Given the description of an element on the screen output the (x, y) to click on. 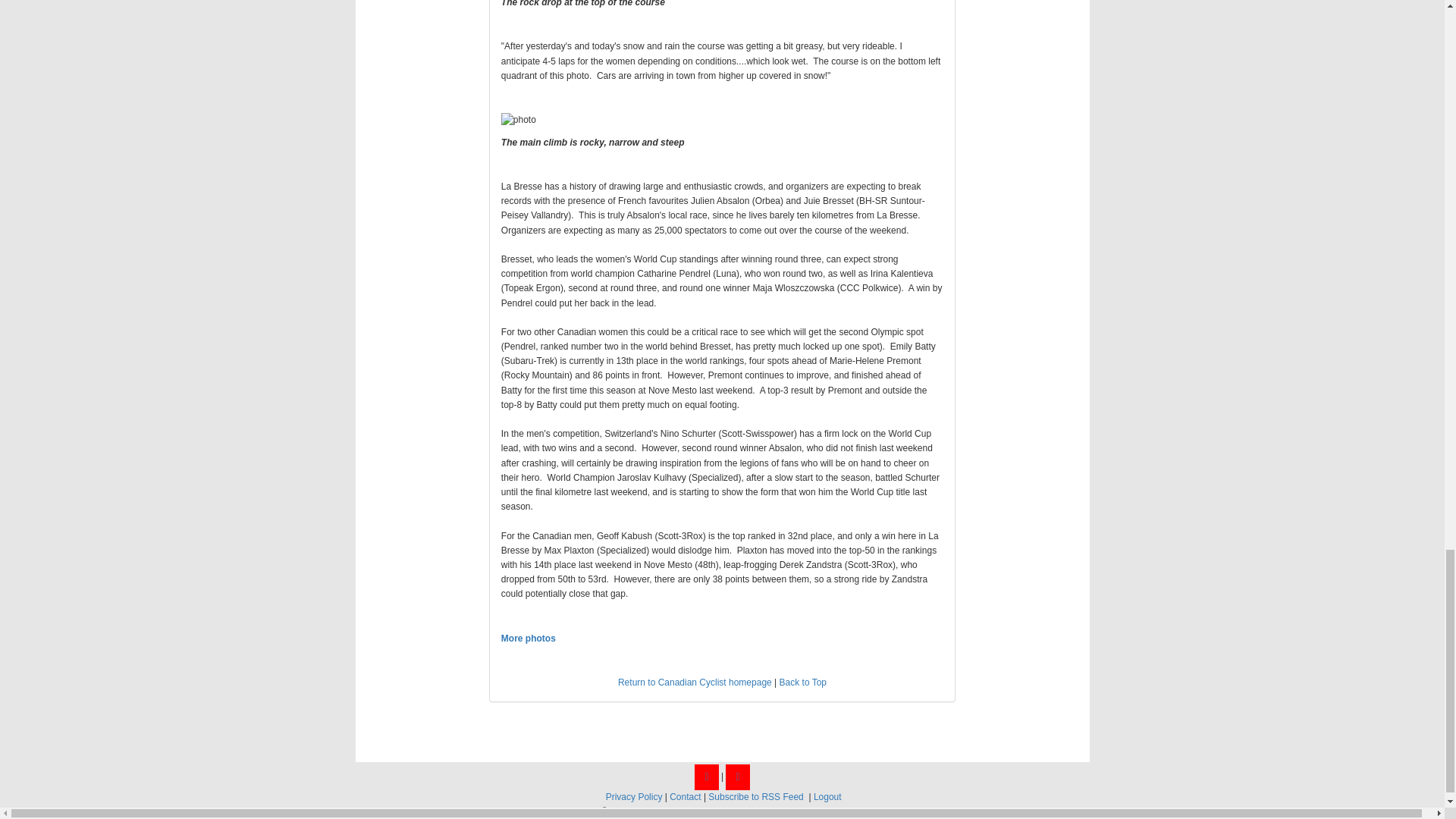
Back to Top (802, 682)
More photos  (528, 638)
Return to Canadian Cyclist homepage (694, 682)
Subscribe to RSS Feed (755, 796)
Privacy Policy (633, 796)
Logout (827, 796)
Contact (684, 796)
LINK (528, 638)
